Given the description of an element on the screen output the (x, y) to click on. 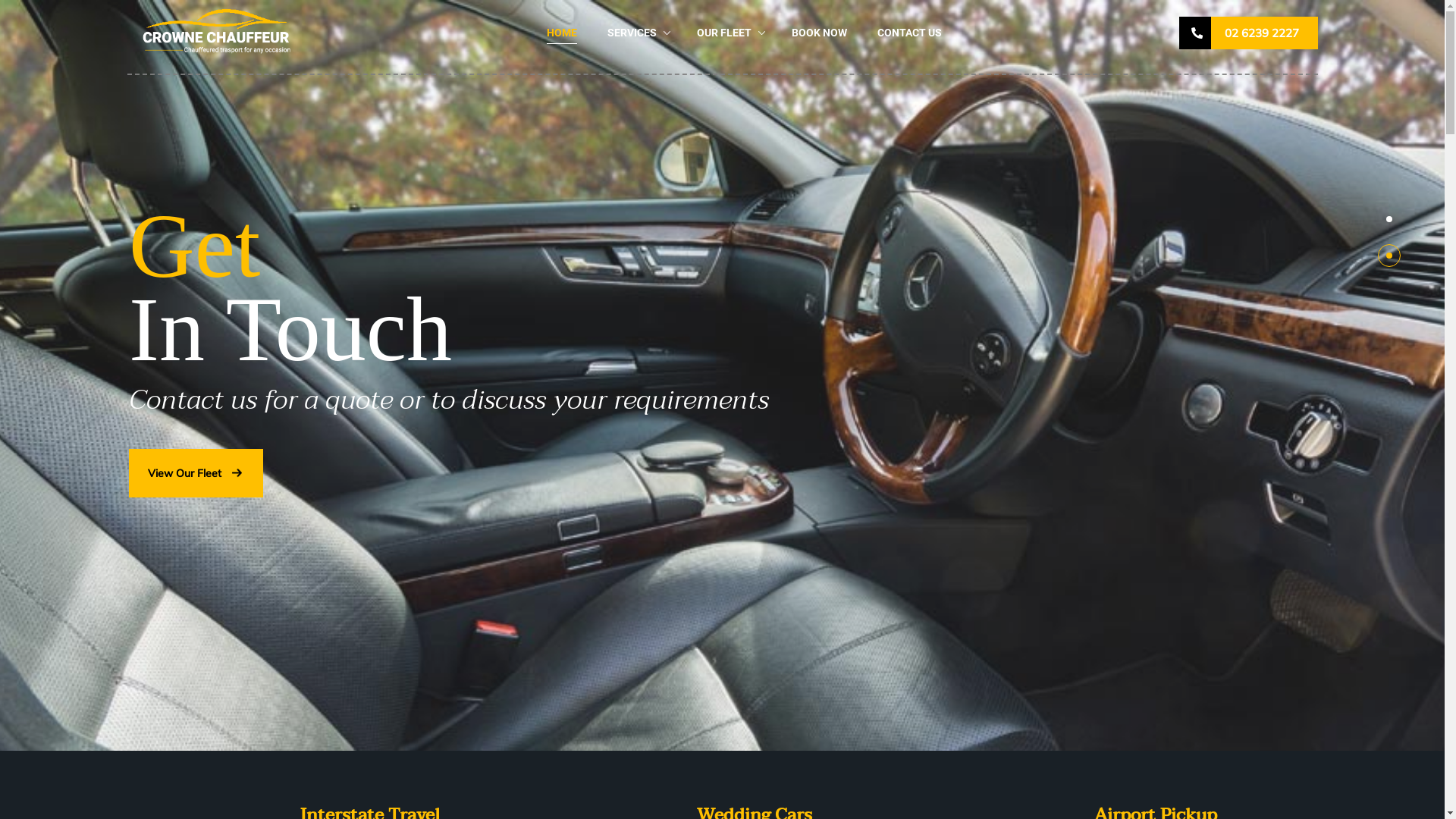
SERVICES Element type: text (630, 32)
HOME Element type: text (560, 32)
BOOK NOW Element type: text (819, 32)
View Our Fleet Element type: text (195, 472)
CONTACT US Element type: text (908, 32)
OUR FLEET Element type: text (722, 32)
02 6239 2227 Element type: text (1247, 32)
